Given the description of an element on the screen output the (x, y) to click on. 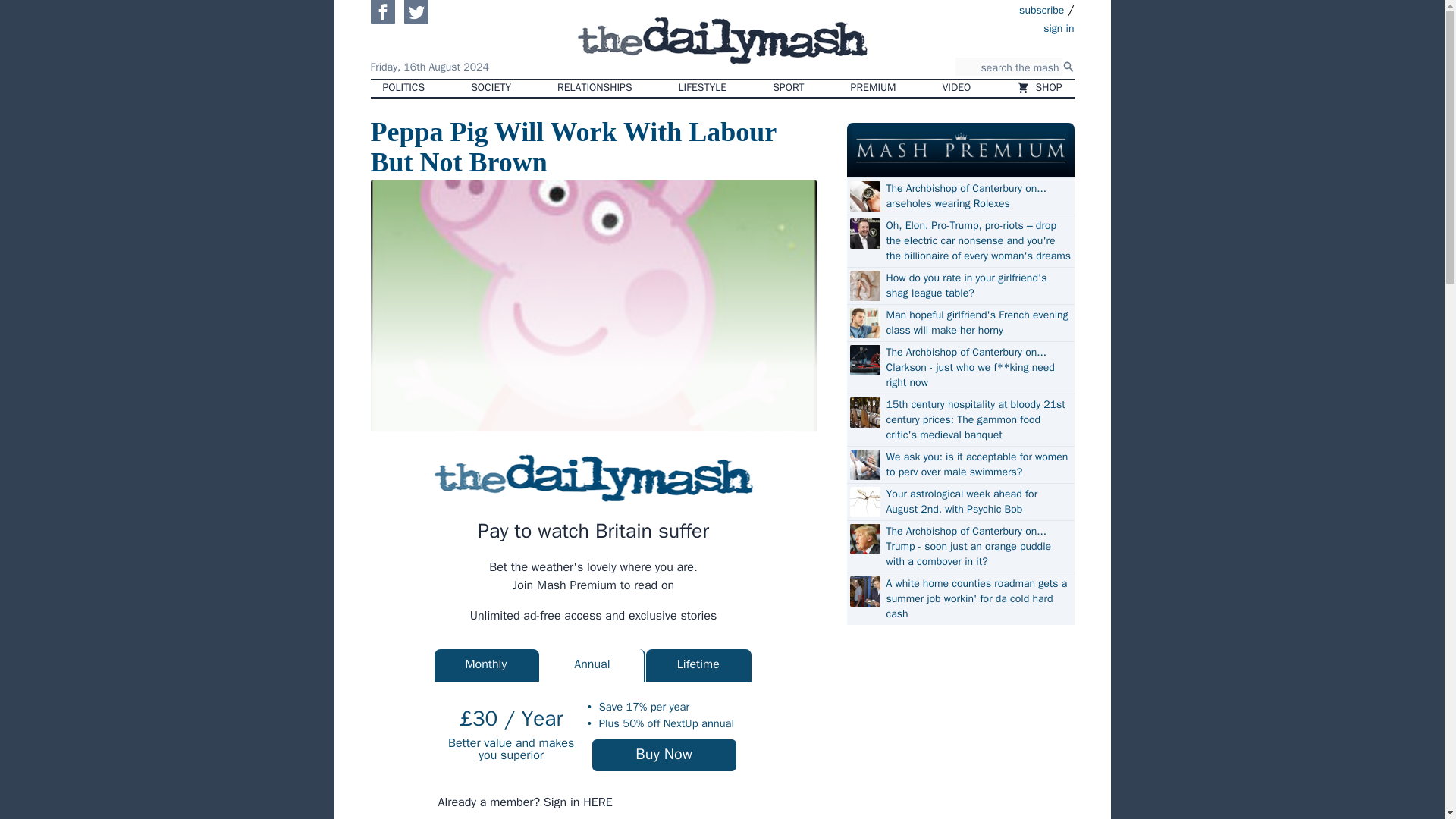
Buy Now (664, 755)
VIDEO (957, 88)
The Archbishop of Canterbury on... arseholes wearing Rolexes (977, 195)
sign in (970, 27)
subscribe (1041, 9)
SPORT (787, 88)
PREMIUM (873, 88)
SOCIETY (490, 88)
LIFESTYLE (702, 88)
